Given the description of an element on the screen output the (x, y) to click on. 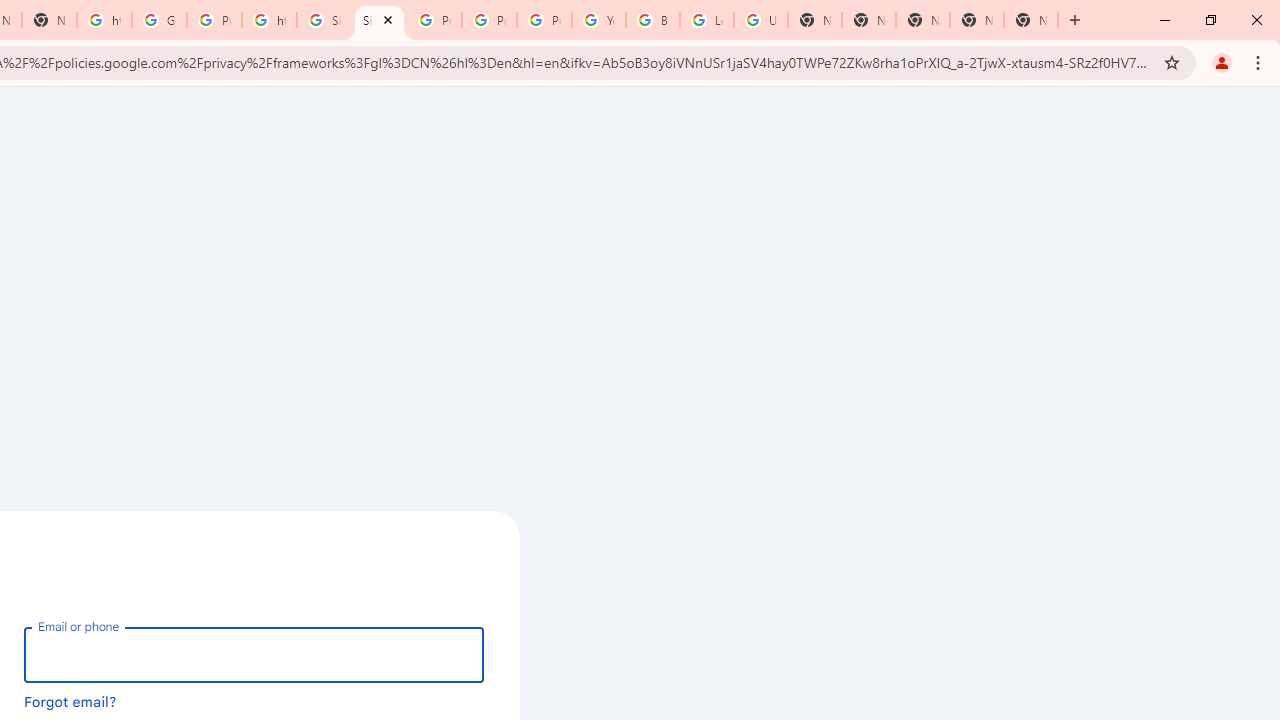
Browse Chrome as a guest - Computer - Google Chrome Help (652, 20)
New Tab (922, 20)
Forgot email? (70, 701)
New Tab (1030, 20)
Sign in - Google Accounts (379, 20)
https://scholar.google.com/ (103, 20)
New Tab (868, 20)
Privacy Help Center - Policies Help (434, 20)
